Given the description of an element on the screen output the (x, y) to click on. 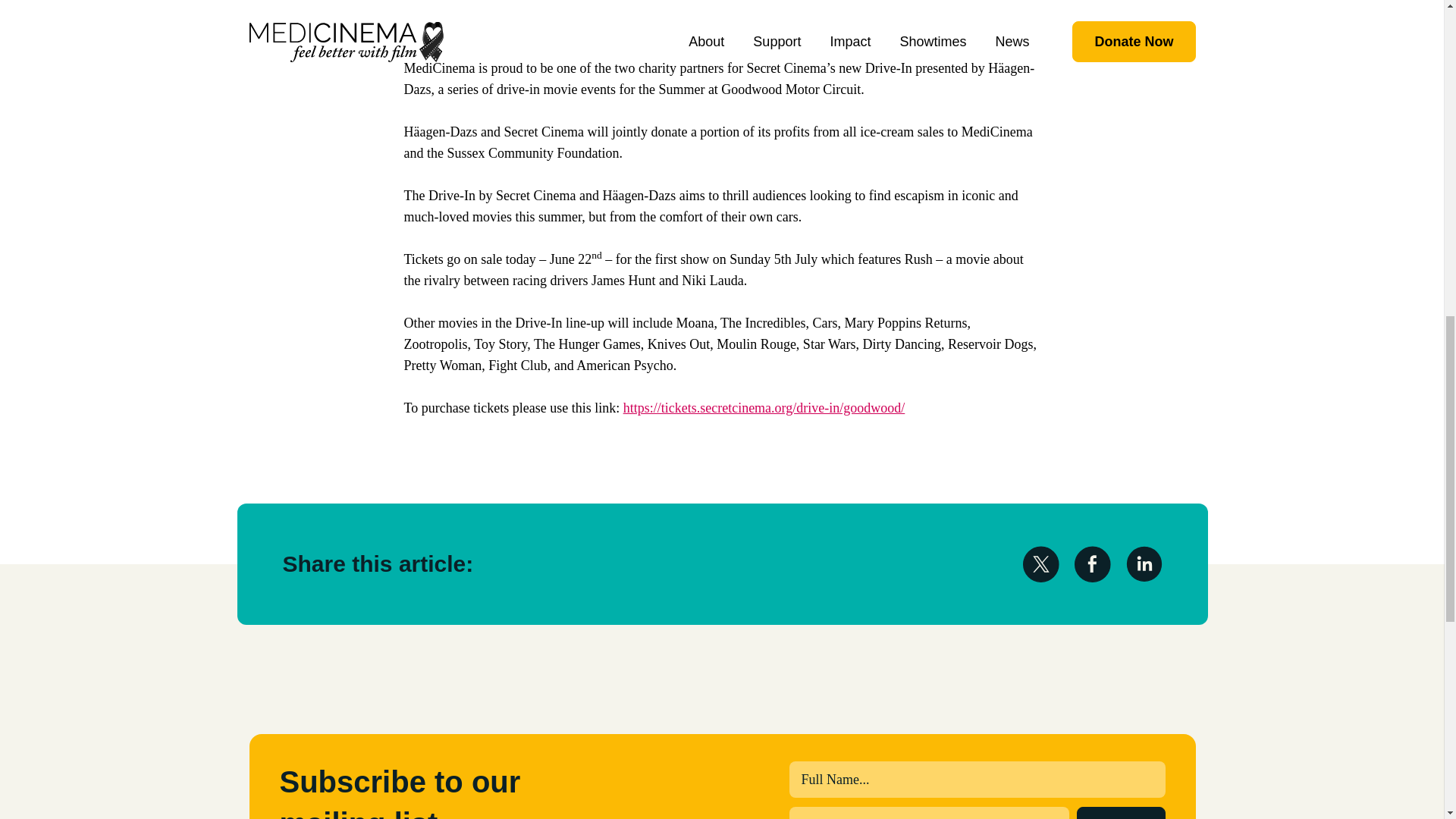
Subscribe (1121, 812)
Subscribe (1121, 812)
